Given the description of an element on the screen output the (x, y) to click on. 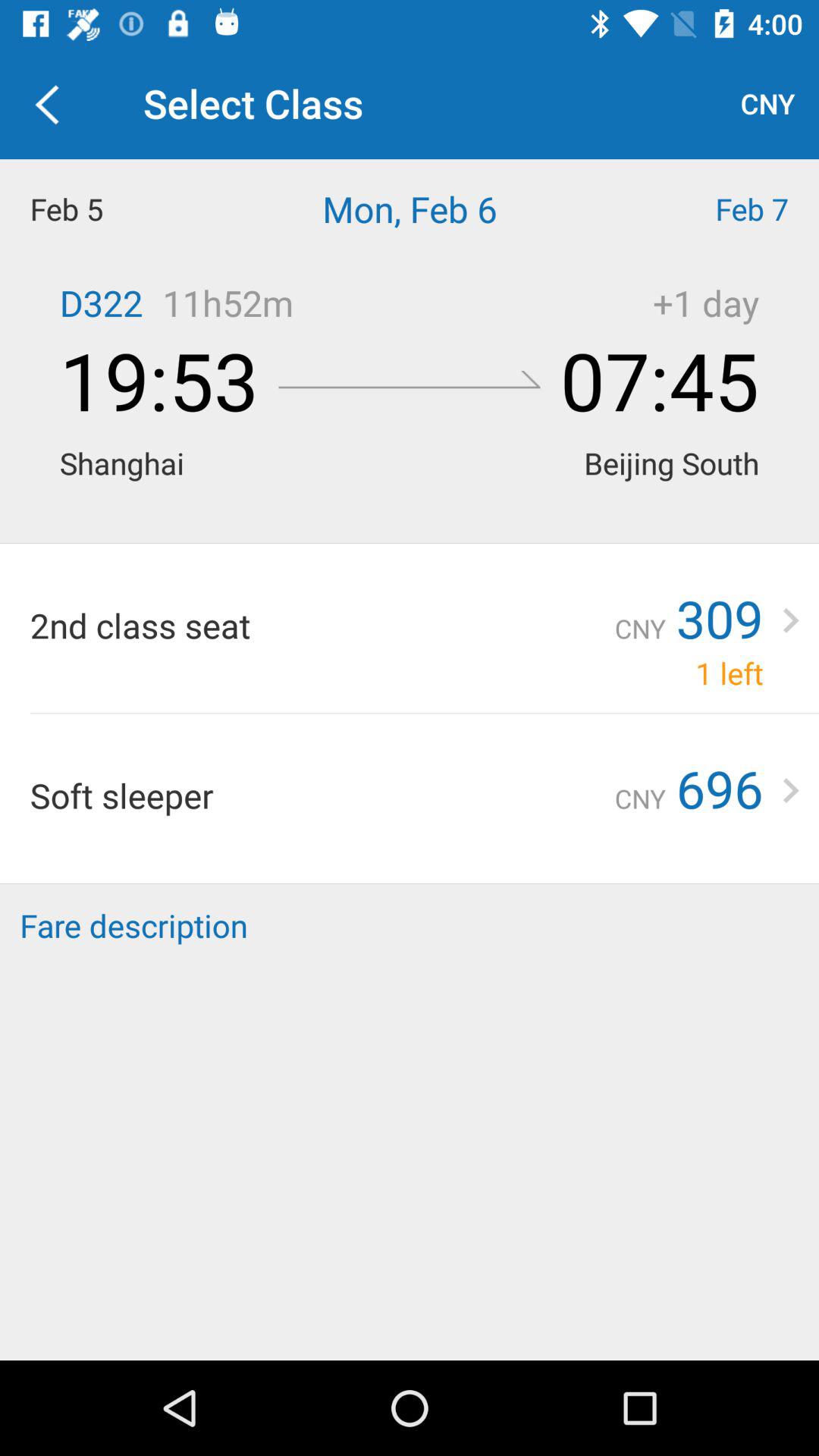
click the 2nd class seat item (322, 625)
